Given the description of an element on the screen output the (x, y) to click on. 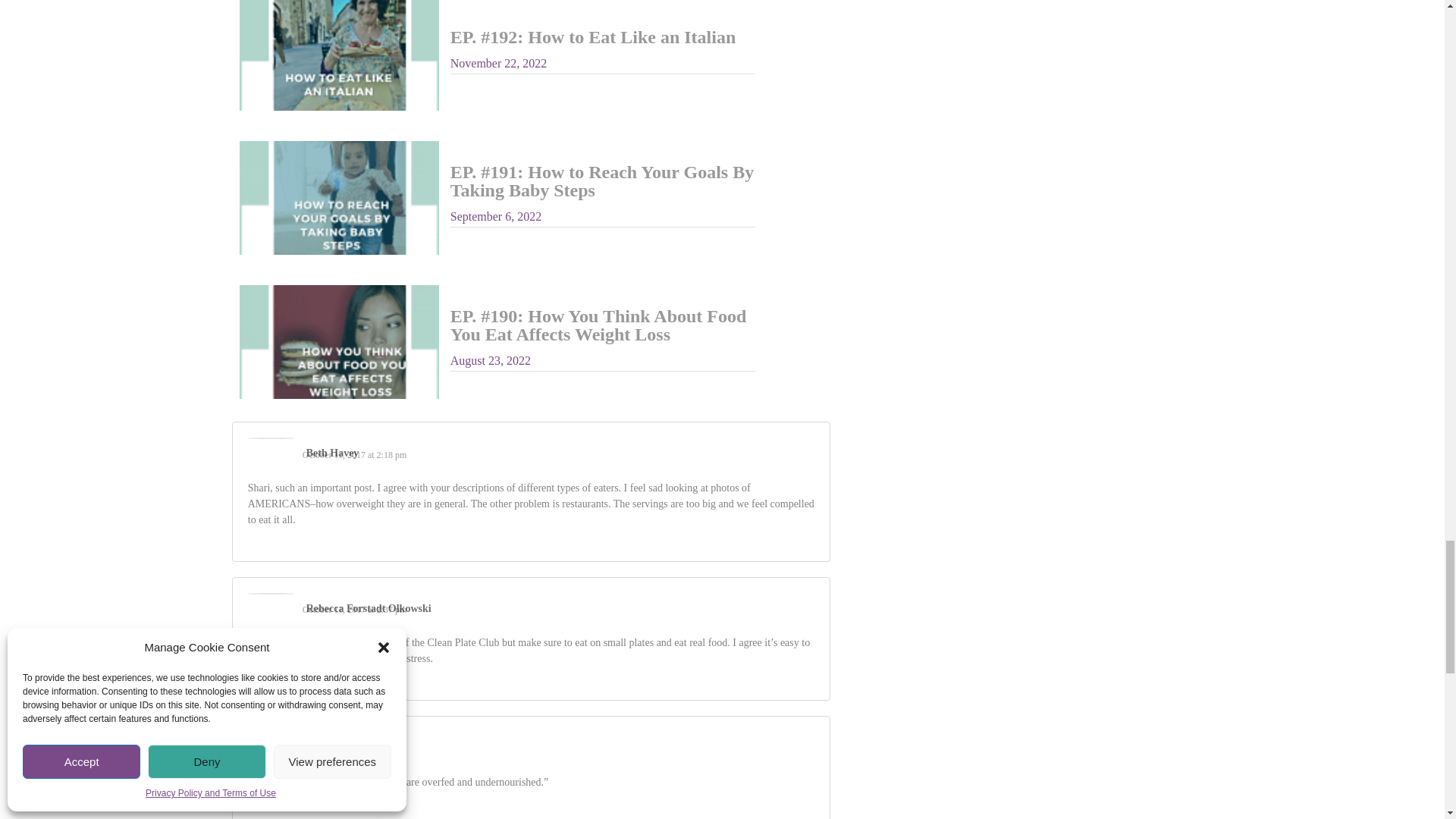
Beth Havey (332, 452)
October 11, 2017 at 2:37 pm (354, 609)
August 23, 2022  (490, 359)
October 11, 2017 at 2:18 pm (354, 454)
August 23, 2022 (490, 359)
September 6, 2022 (495, 215)
November 22, 2022  (498, 62)
September 6, 2022  (495, 215)
November 22, 2022 (498, 62)
Rebecca Forstadt Olkowski (367, 608)
